Given the description of an element on the screen output the (x, y) to click on. 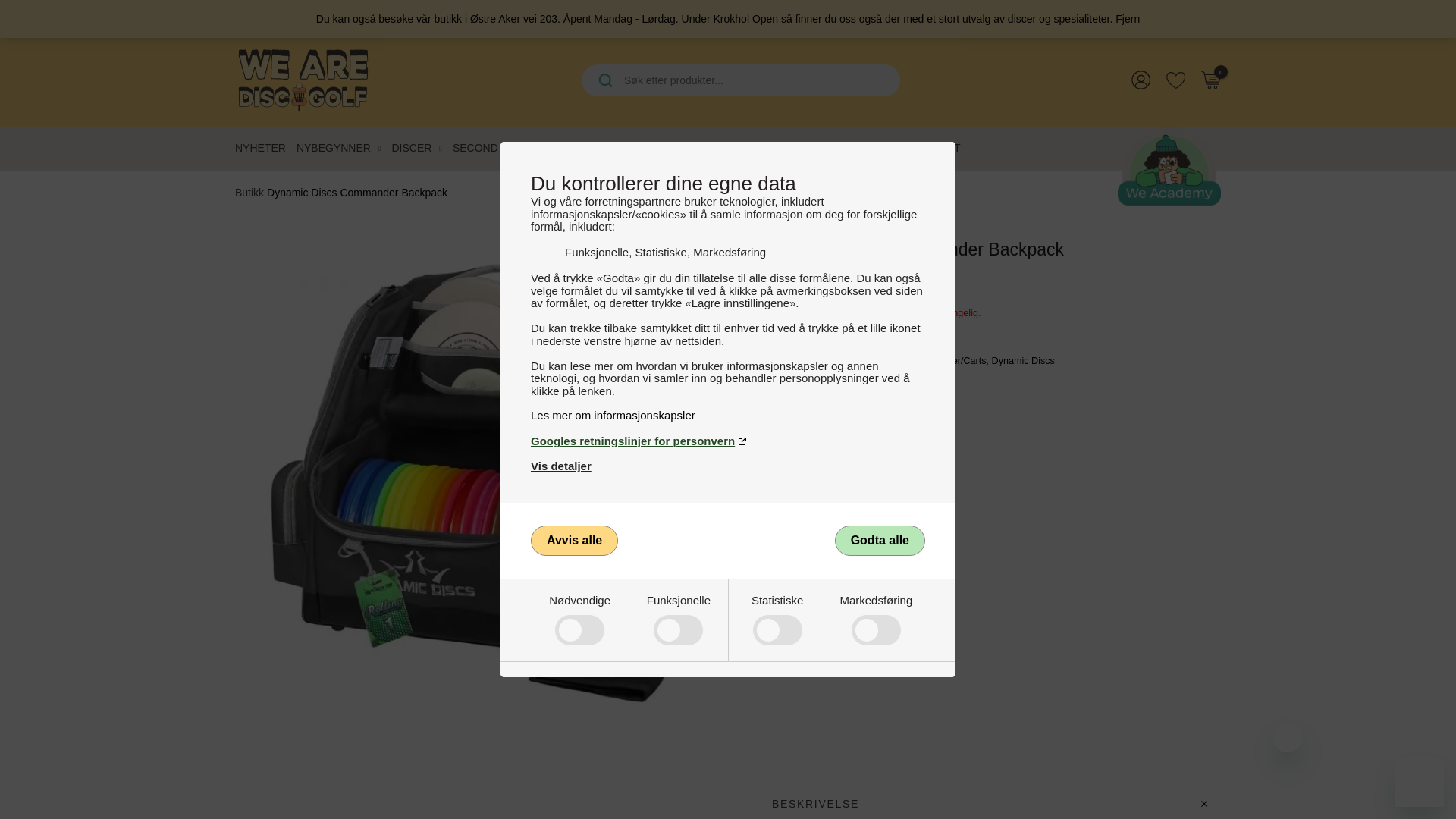
Les mer om informasjonskapsler (727, 414)
Googles retningslinjer for personvern (727, 440)
Godta alle (879, 540)
Avvis alle (574, 540)
Vis detaljer (561, 465)
